Given the description of an element on the screen output the (x, y) to click on. 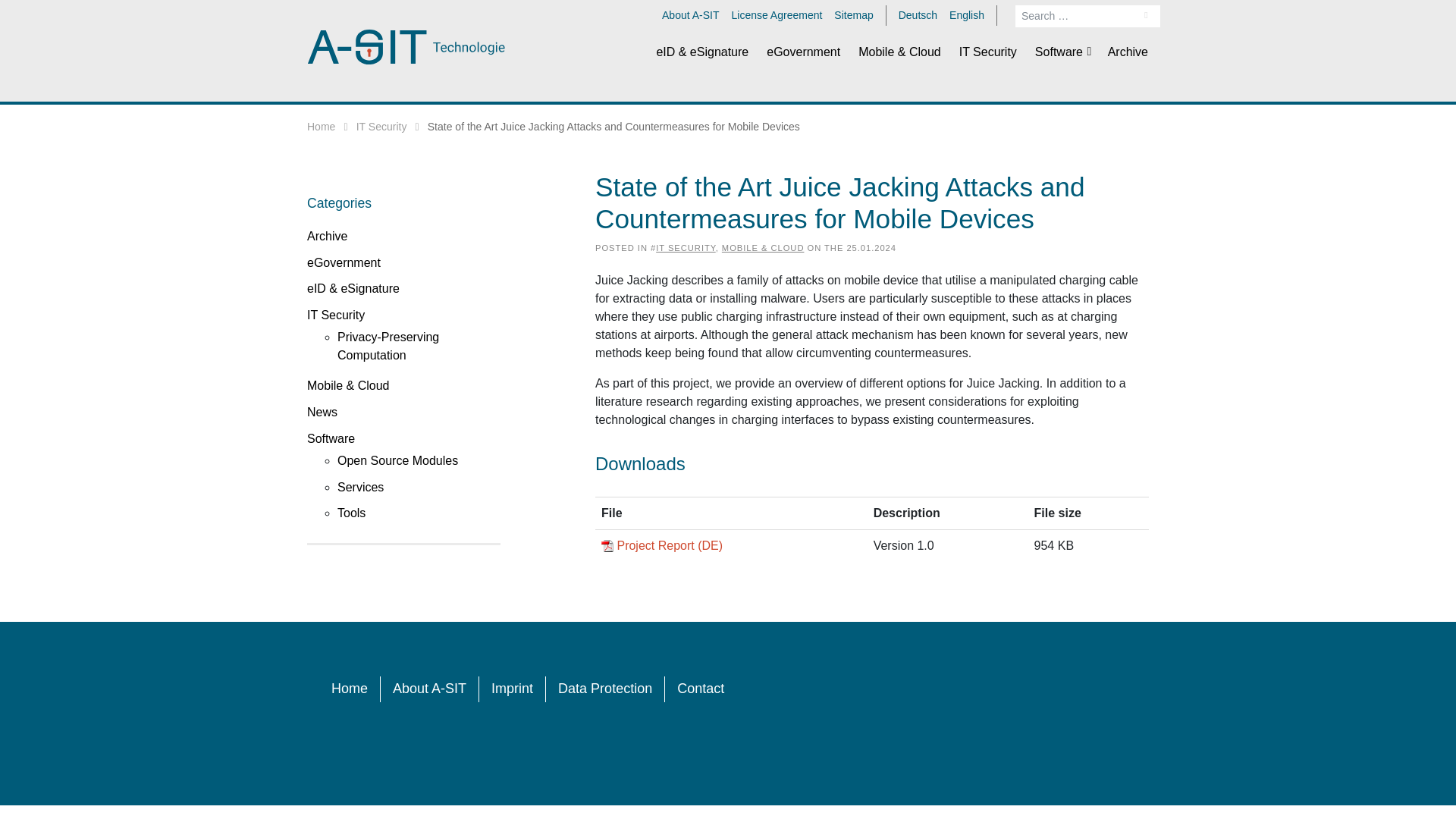
Privacy-Preserving Computation (388, 345)
Sitemap (853, 14)
eGovernment (802, 52)
English (966, 14)
Software (1062, 52)
eGovernment (343, 262)
IT Security (381, 126)
License Agreement (776, 14)
eGovernment (802, 52)
Imprint (512, 688)
Software (331, 438)
A-SIT Homepage (406, 45)
SEARCH (1147, 15)
Services (360, 486)
